Given the description of an element on the screen output the (x, y) to click on. 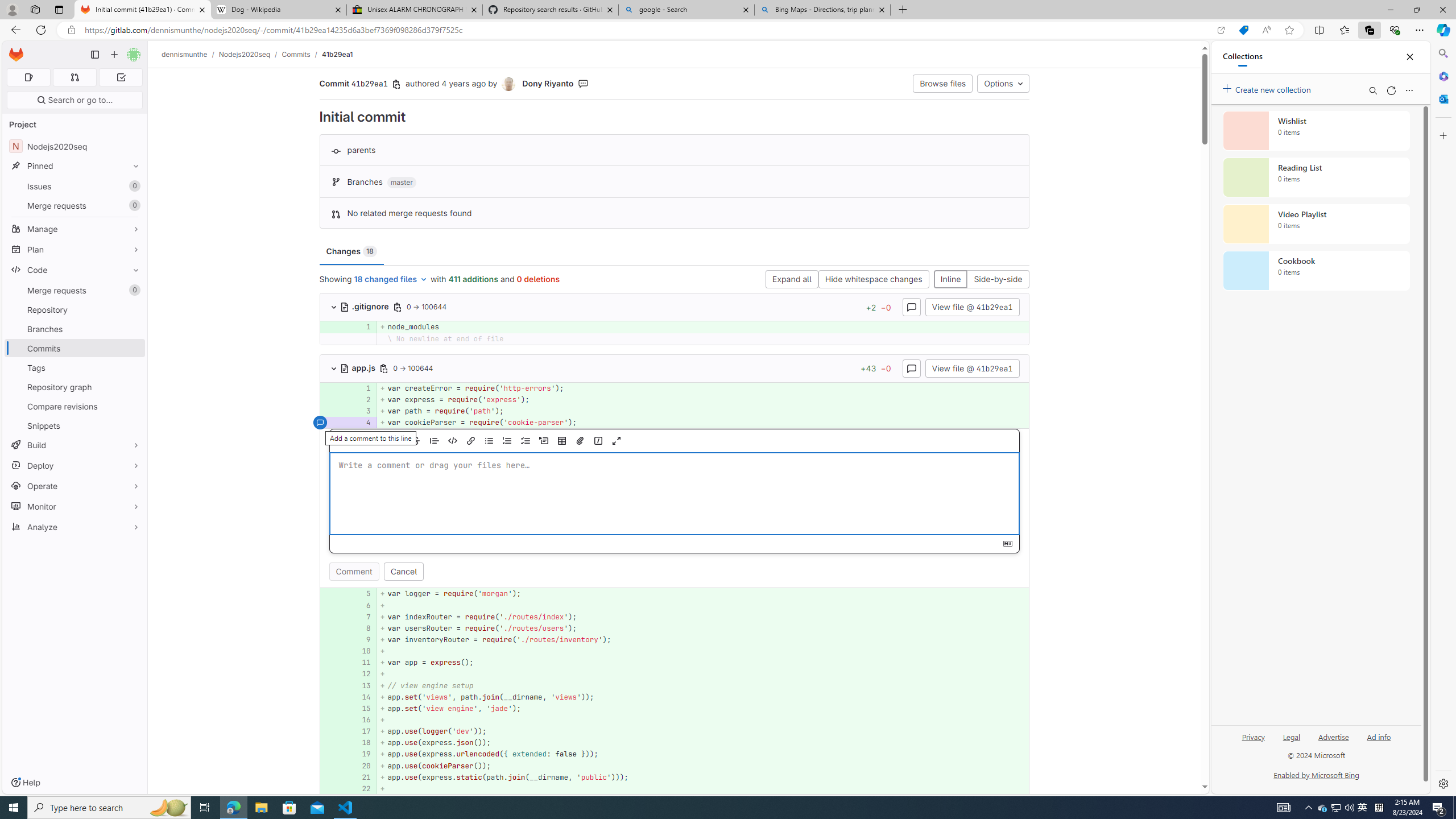
1 (360, 387)
4 (362, 422)
Nodejs2020seq/ (250, 53)
Analyze (74, 526)
Tags (74, 367)
Video Playlist collection, 0 items (1316, 223)
Insert a quote (434, 440)
AutomationID: 4a68969ef8e858229267b842dedf42ab5dde4d50_0_14 (674, 696)
+ app.use(logger('dev'));  (703, 731)
Unpin Issues (132, 186)
15 (362, 708)
Expand all (791, 279)
17 (360, 731)
AutomationID: 4a68969ef8e858229267b842dedf42ab5dde4d50_0_22 (674, 788)
